Given the description of an element on the screen output the (x, y) to click on. 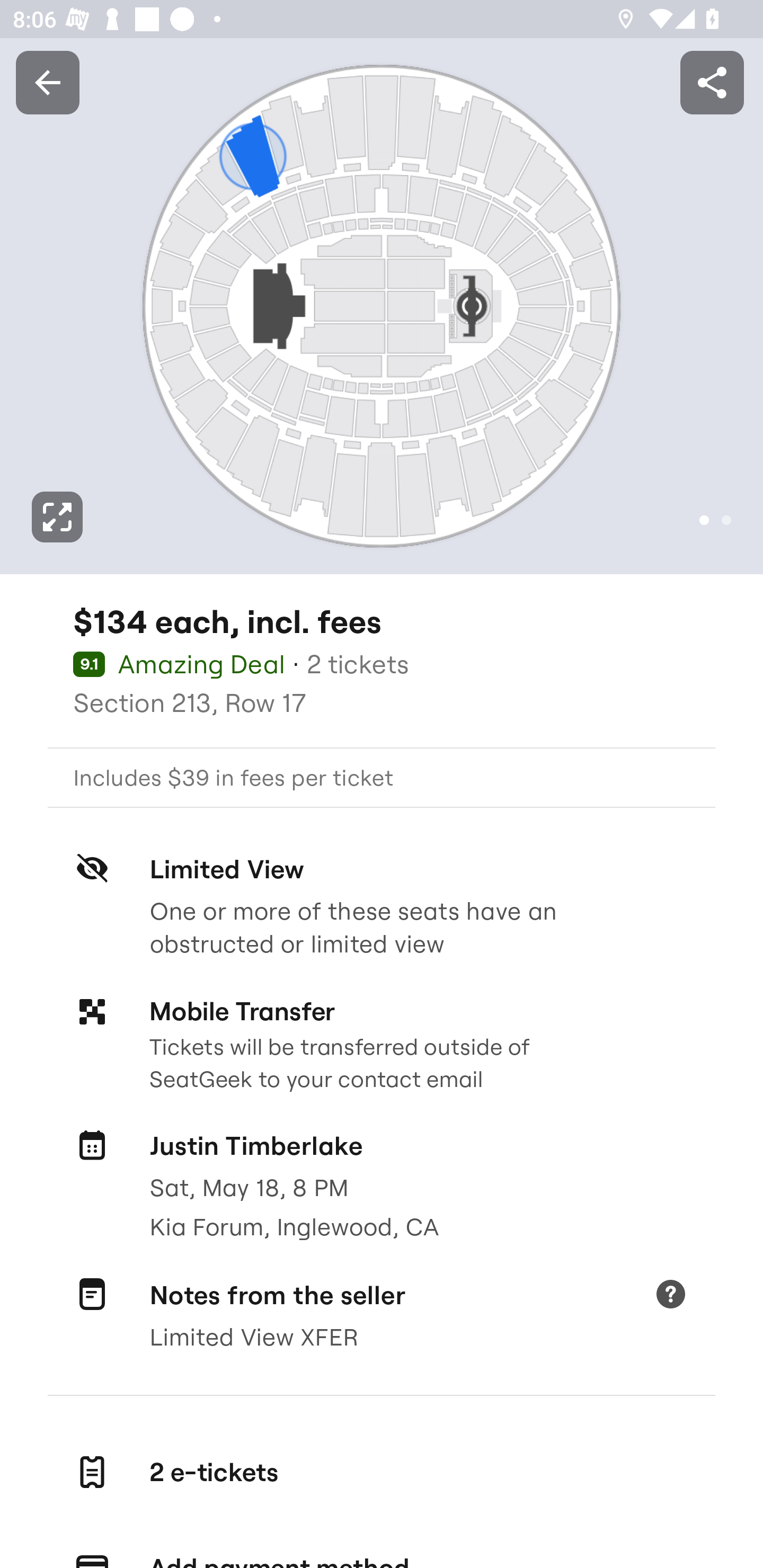
Back (47, 81)
Share (711, 81)
Expand image to fullscreen (57, 517)
Learn more (670, 1295)
2 e-tickets (381, 1472)
